Given the description of an element on the screen output the (x, y) to click on. 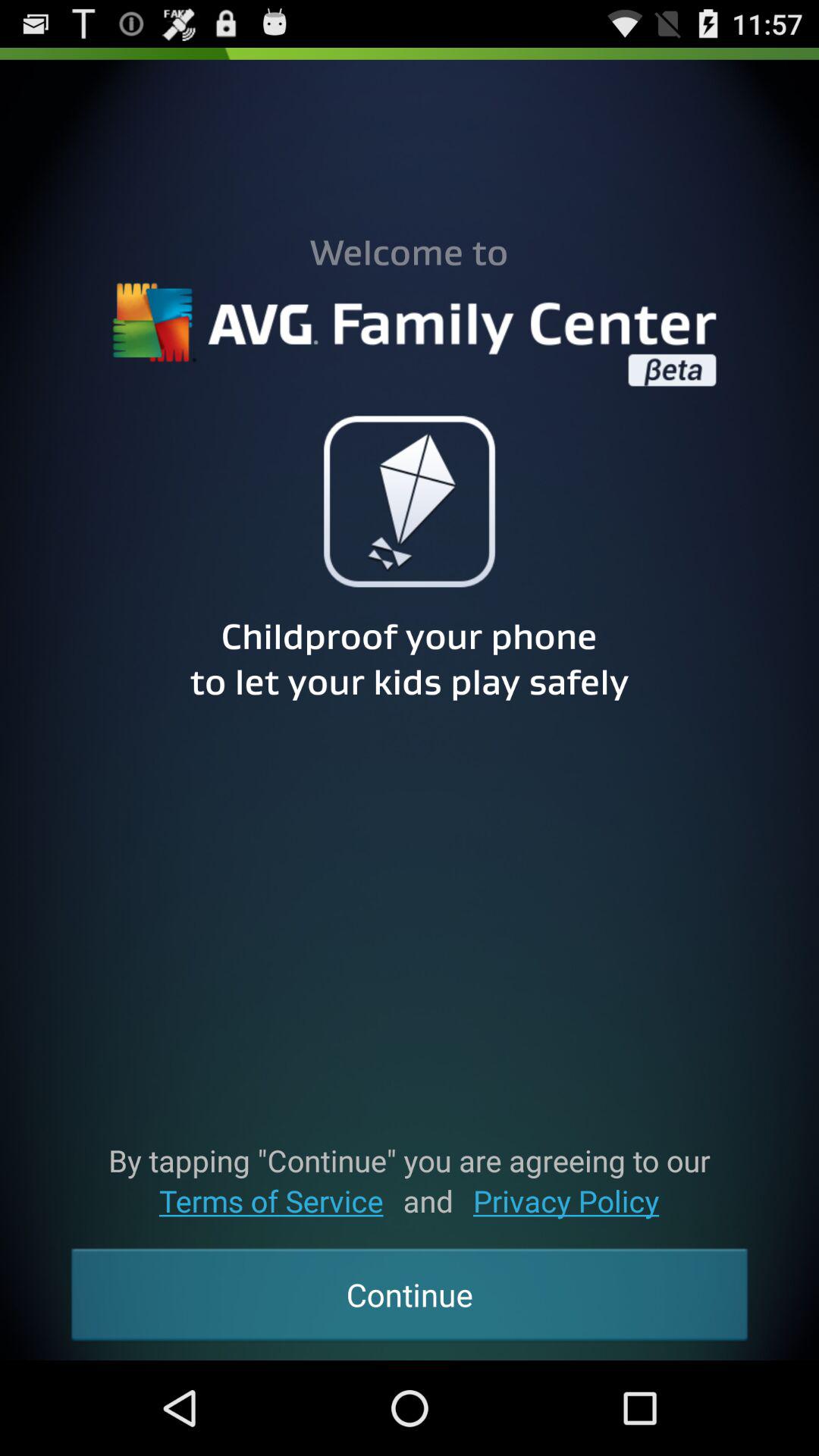
launch the button above the continue button (271, 1200)
